Given the description of an element on the screen output the (x, y) to click on. 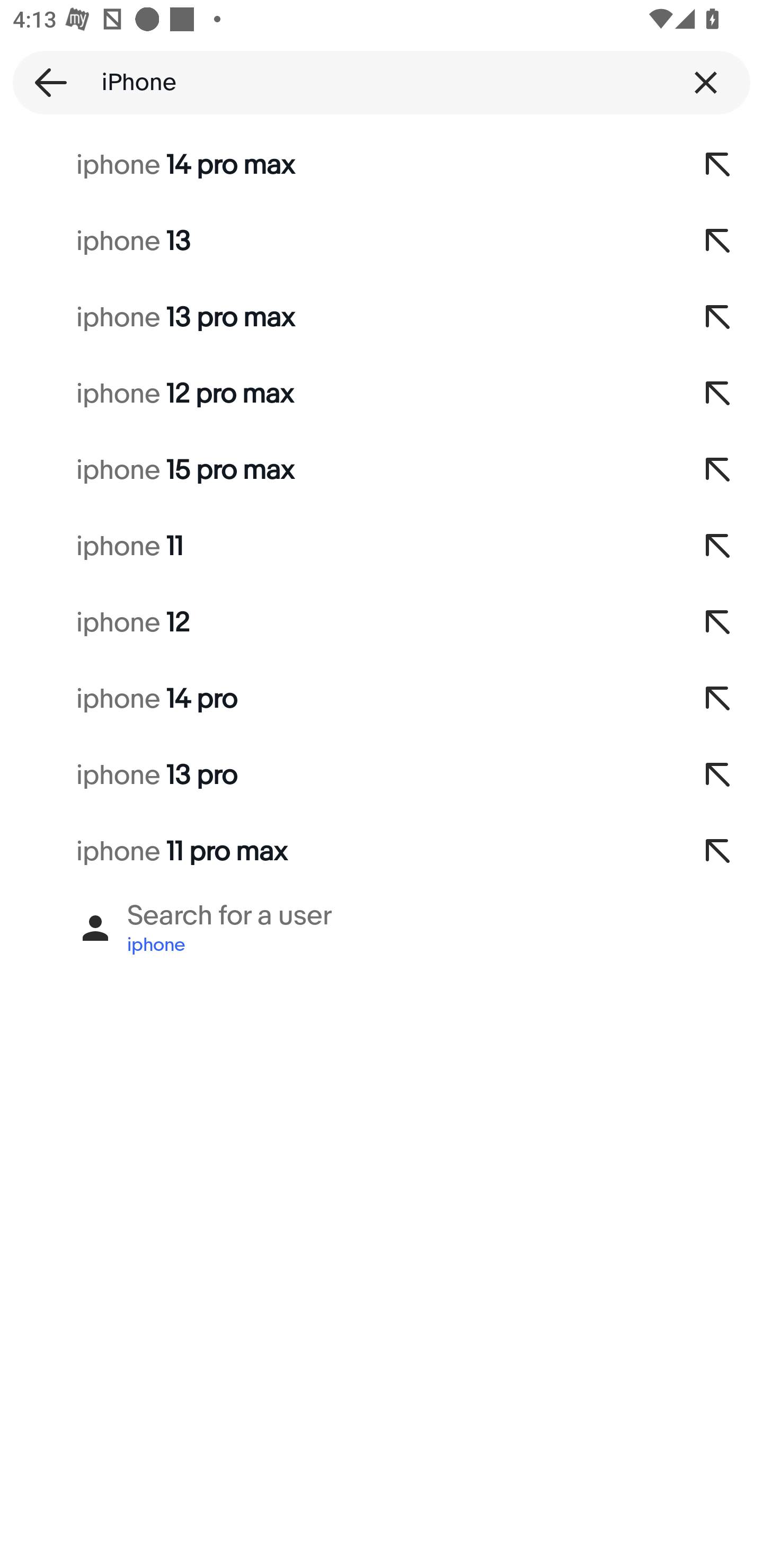
Back (44, 82)
Clear query (705, 82)
iPhone (381, 82)
iphone 14 pro max (336, 165)
Add to search query,iphone 14 pro max (718, 165)
iphone 13 (336, 241)
Add to search query,iphone 13 (718, 241)
iphone 13 pro max (336, 317)
Add to search query,iphone 13 pro max (718, 317)
iphone 12 pro max (336, 393)
Add to search query,iphone 12 pro max (718, 393)
iphone 15 pro max (336, 470)
Add to search query,iphone 15 pro max (718, 470)
iphone 11 (336, 546)
Add to search query,iphone 11 (718, 546)
iphone 12 (336, 622)
Add to search query,iphone 12 (718, 622)
iphone 14 pro (336, 698)
Add to search query,iphone 14 pro (718, 698)
iphone 13 pro (336, 774)
Add to search query,iphone 13 pro (718, 774)
iphone 11 pro max (336, 851)
Add to search query,iphone 11 pro max (718, 851)
Search for a user
iphone (381, 927)
